Given the description of an element on the screen output the (x, y) to click on. 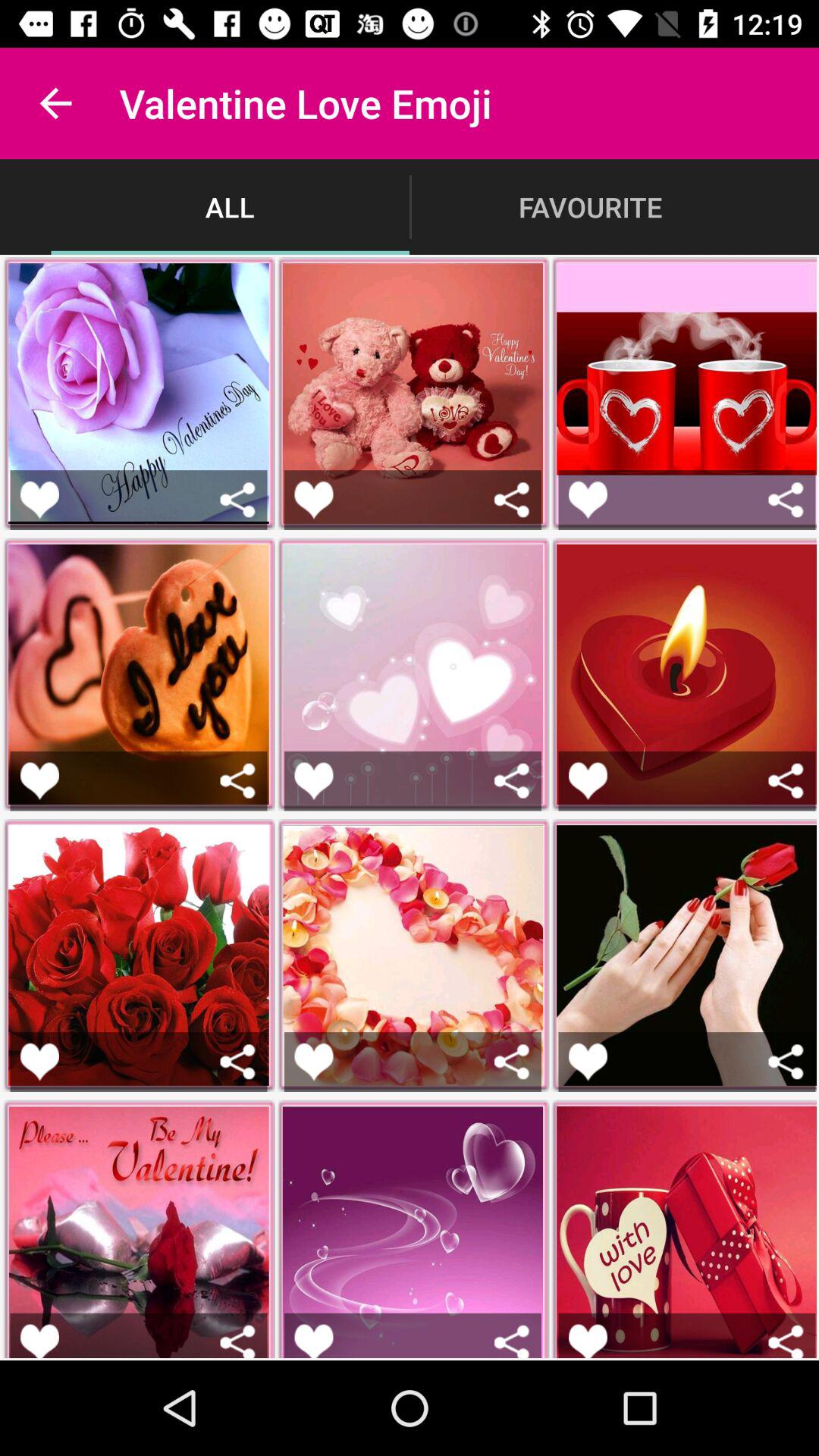
like picture (39, 1061)
